Given the description of an element on the screen output the (x, y) to click on. 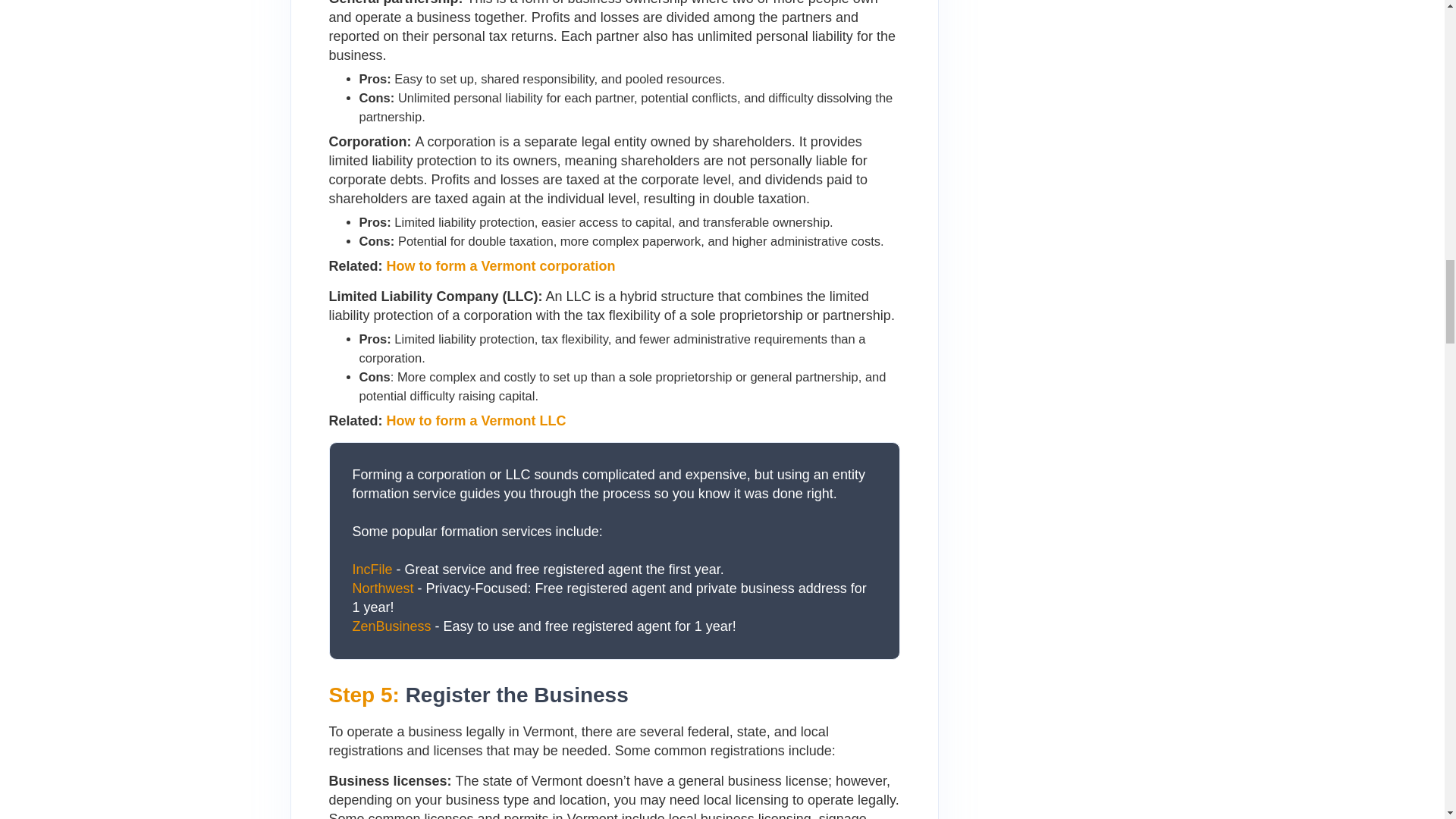
IncFile (371, 569)
ZenBusiness (391, 626)
Northwest (382, 588)
How to form a Vermont corporation (501, 265)
How to form a Vermont LLC (476, 420)
